Given the description of an element on the screen output the (x, y) to click on. 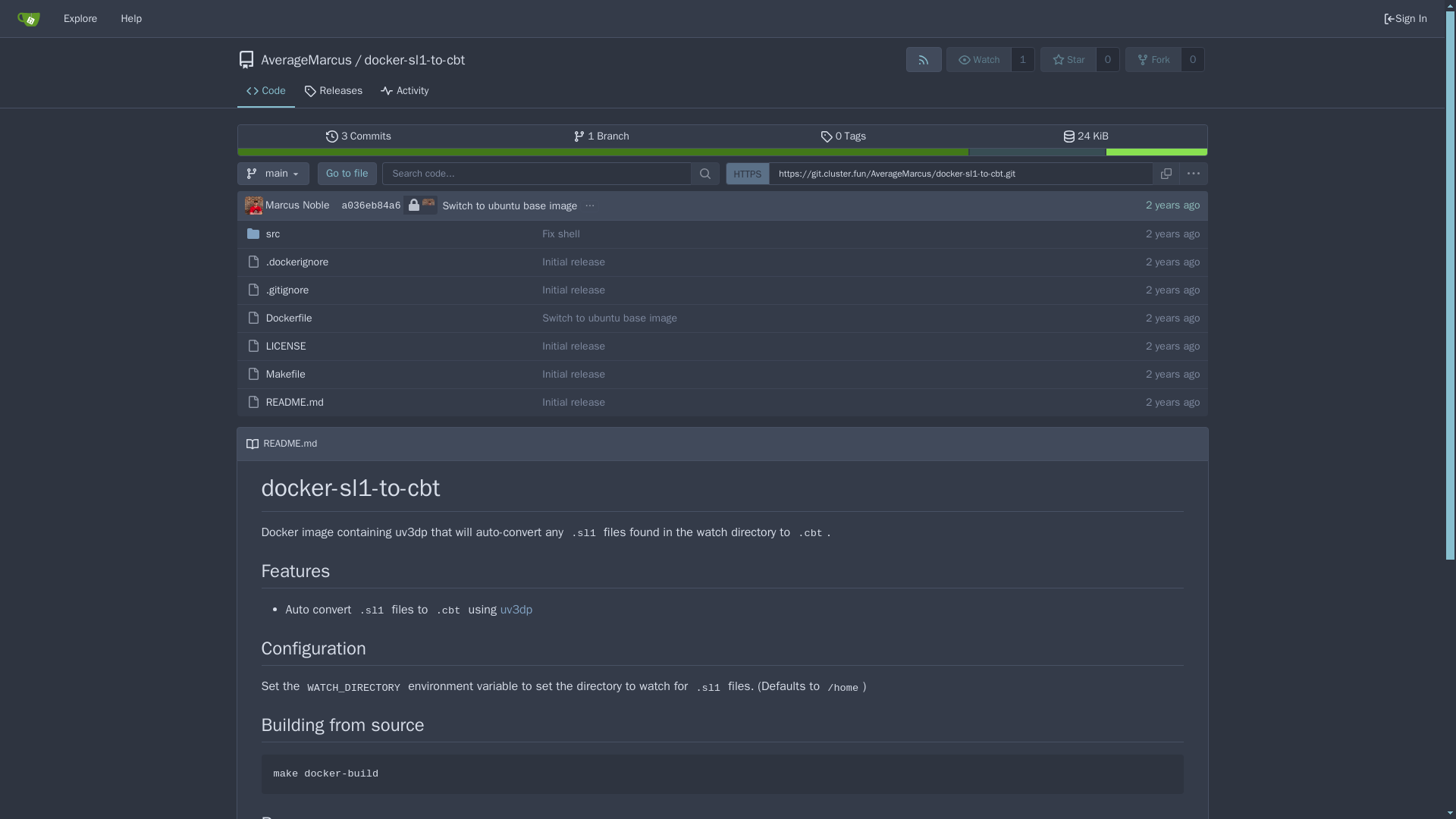
Dockerfile (359, 136)
Marcus Noble (289, 317)
Go to file (601, 136)
LICENSE (427, 204)
Watch (347, 173)
Help (285, 345)
0 (978, 59)
0 (130, 17)
AverageMarcus (842, 136)
.gitignore (1107, 59)
Marcus Noble (1192, 59)
Sign In (306, 59)
